Given the description of an element on the screen output the (x, y) to click on. 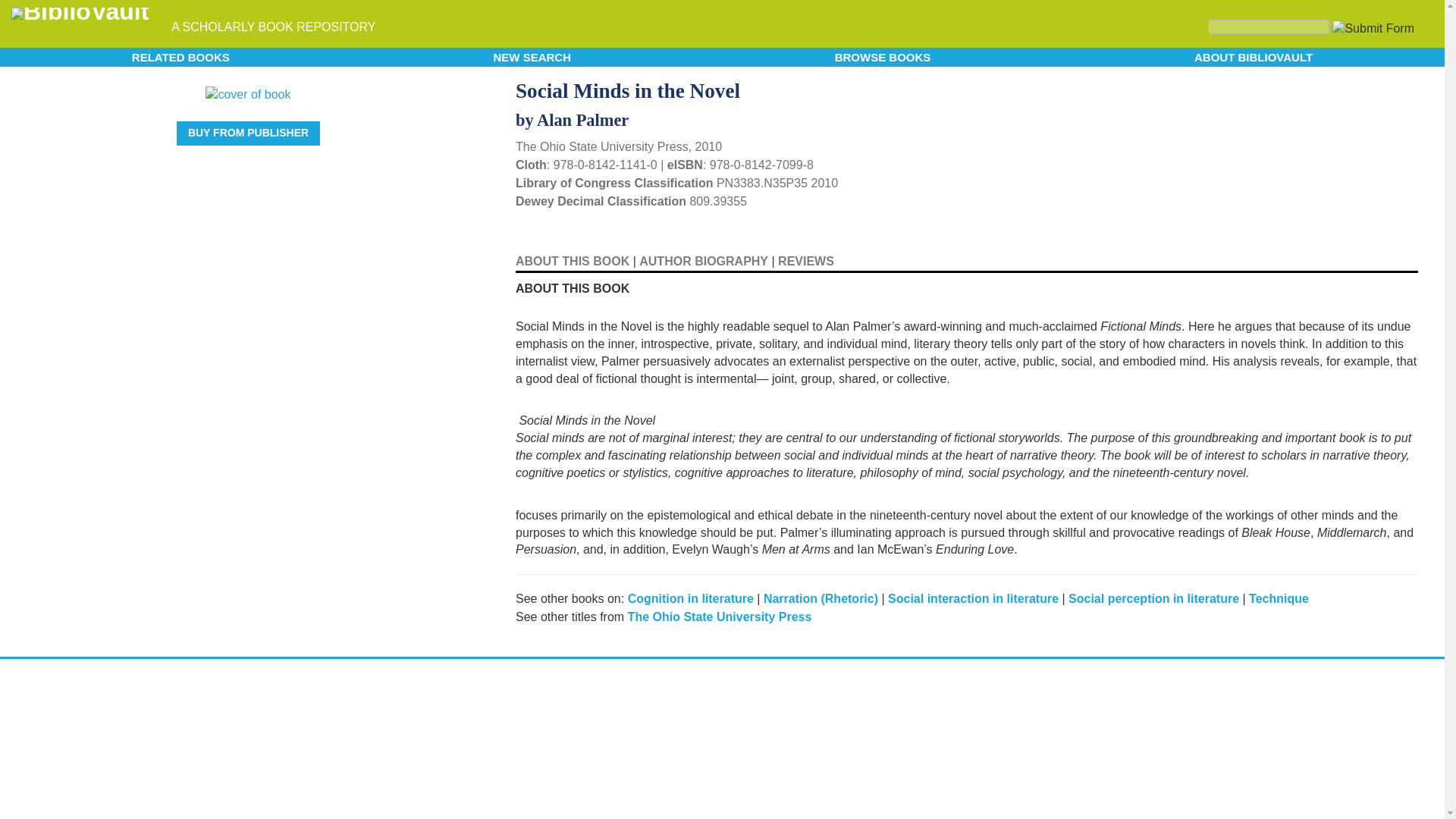
Send as an email (1404, 87)
Share on Facebook (1384, 90)
BROWSE BOOKS (882, 56)
ABOUT BIBLIOVAULT (1253, 56)
Cognition in literature (690, 598)
Search (1333, 26)
Social interaction in literature (973, 598)
NEW SEARCH (532, 56)
